Given the description of an element on the screen output the (x, y) to click on. 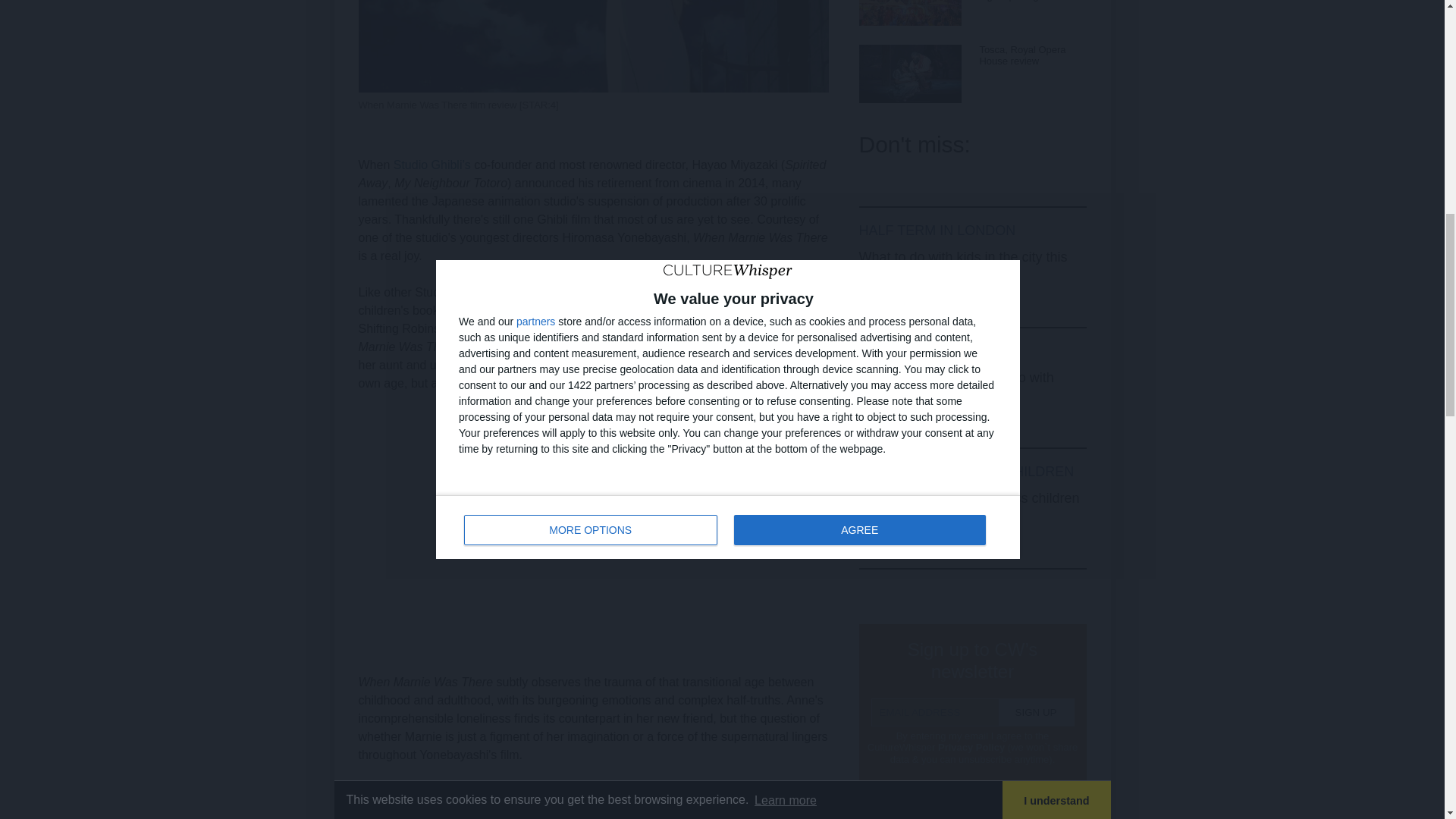
sign up (1035, 712)
